Given the description of an element on the screen output the (x, y) to click on. 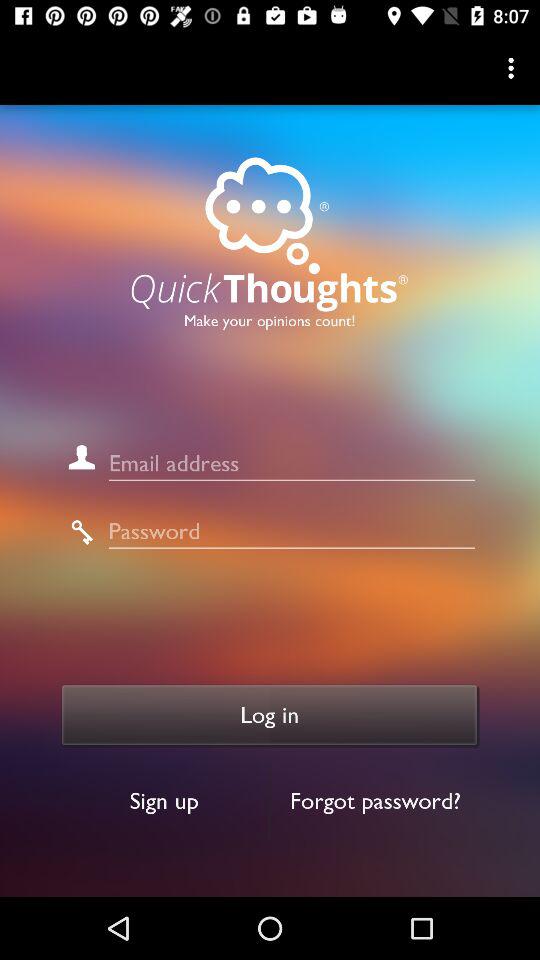
insert password (291, 531)
